Given the description of an element on the screen output the (x, y) to click on. 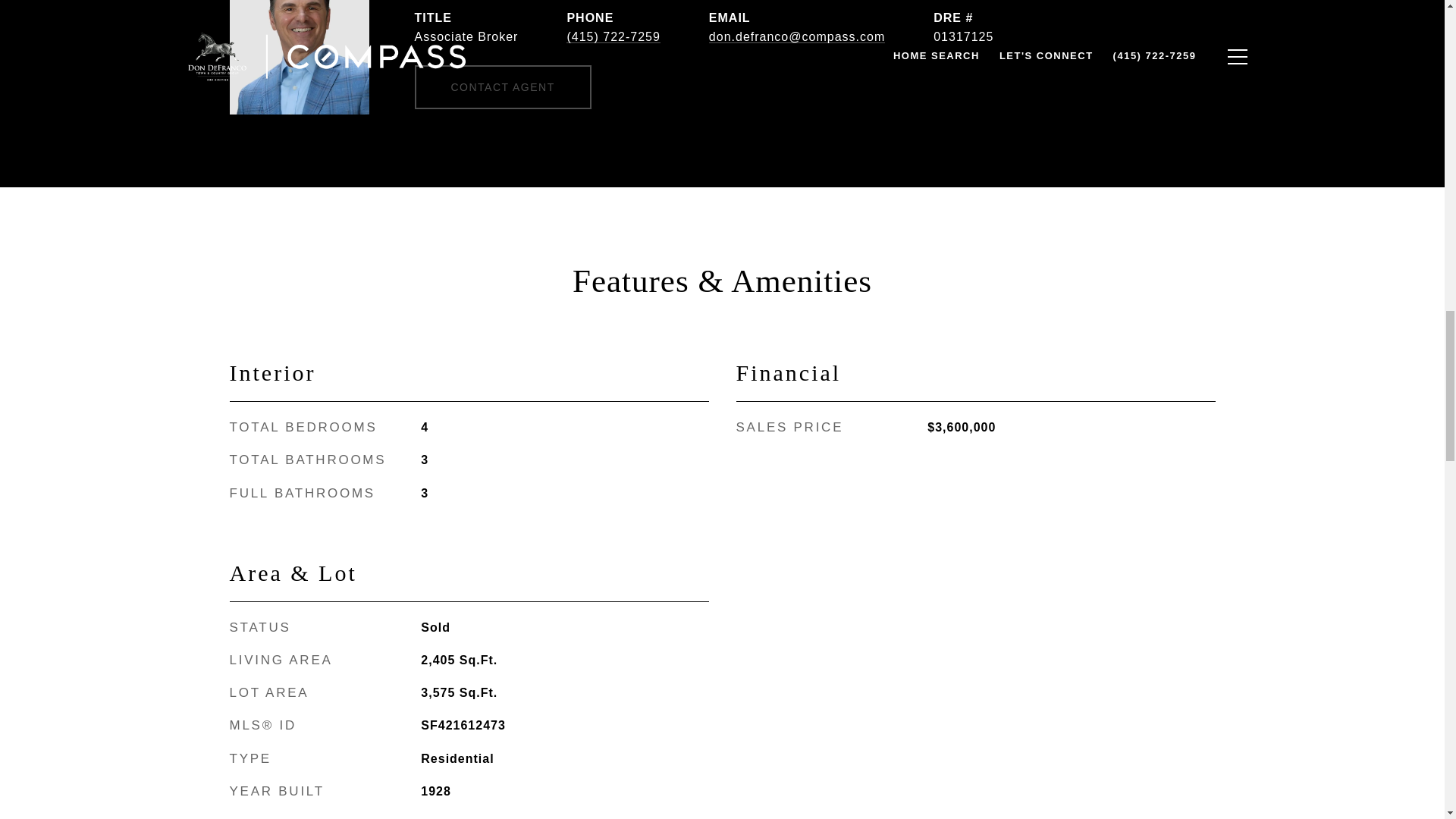
CONTACT AGENT (502, 86)
